Given the description of an element on the screen output the (x, y) to click on. 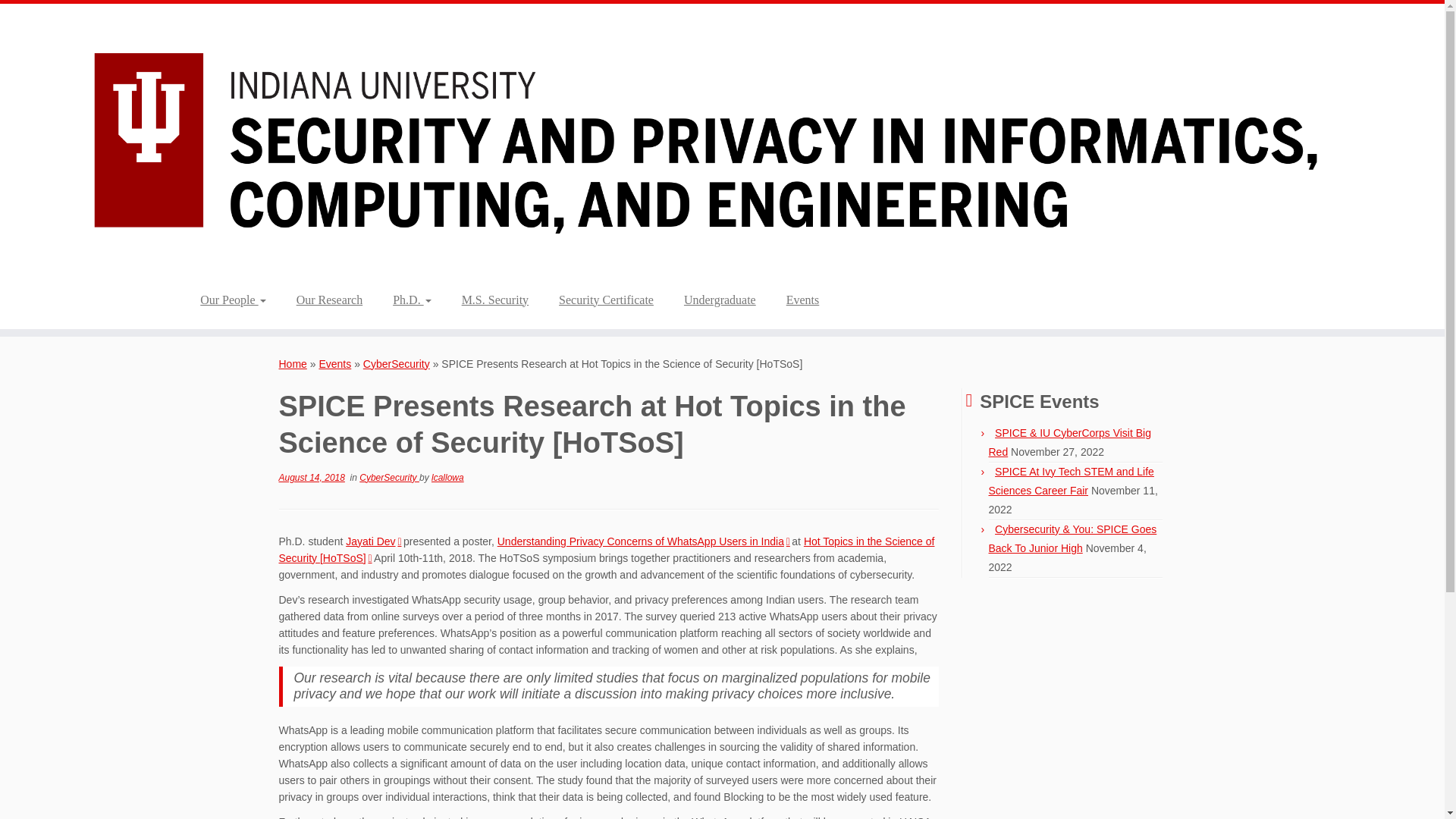
M.S. Security (494, 300)
Events (802, 300)
Security Certificate (605, 300)
SPICE At Ivy Tech STEM and Life Sciences Career Fair (1071, 481)
August 14, 2018 (312, 477)
lcallowa (447, 477)
Our People (238, 300)
Jayati Dev (373, 541)
CyberSecurity (395, 363)
CyberSecurity (389, 477)
Events (334, 363)
Home (293, 363)
Our Research (329, 300)
Ph.D. (411, 300)
Undergraduate (719, 300)
